Given the description of an element on the screen output the (x, y) to click on. 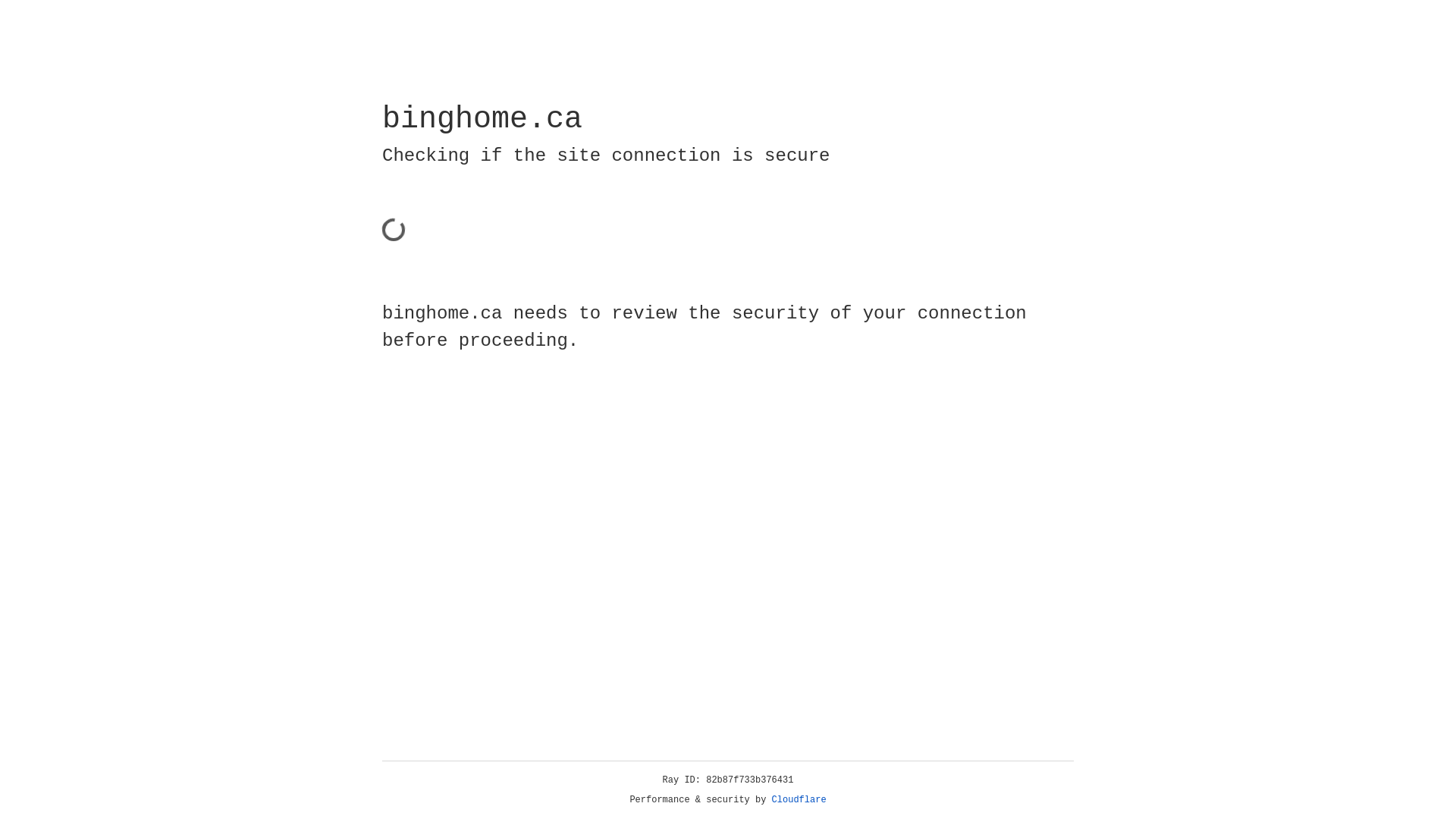
Cloudflare Element type: text (798, 799)
